Given the description of an element on the screen output the (x, y) to click on. 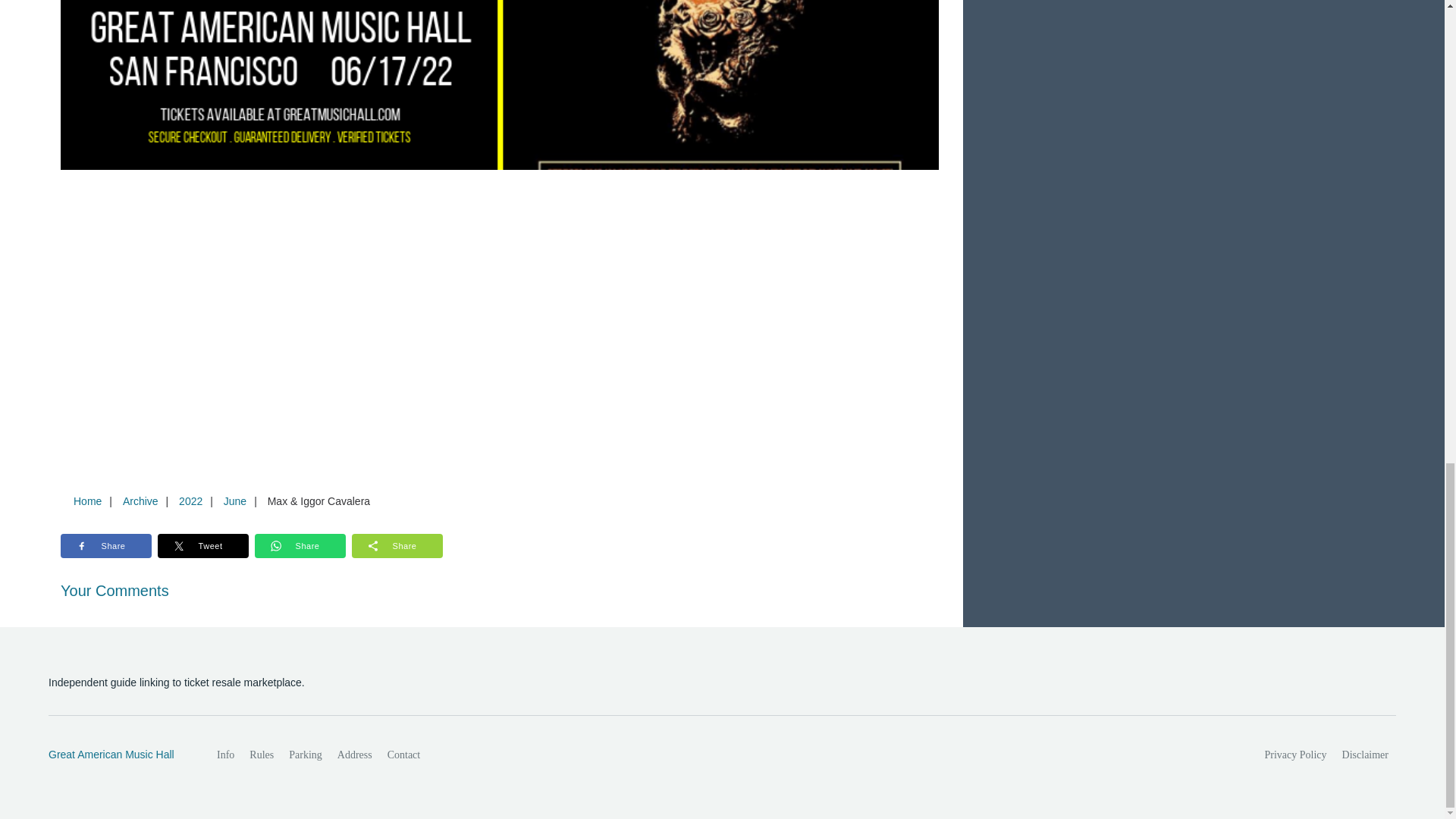
2022 (190, 500)
Home (87, 500)
June (234, 500)
Info (225, 755)
Archive (140, 500)
Disclaimer (1365, 755)
Contact (404, 755)
Privacy Policy (1296, 755)
Parking (305, 755)
Great American Music Hall (116, 754)
Address (355, 755)
Rules (261, 755)
